Given the description of an element on the screen output the (x, y) to click on. 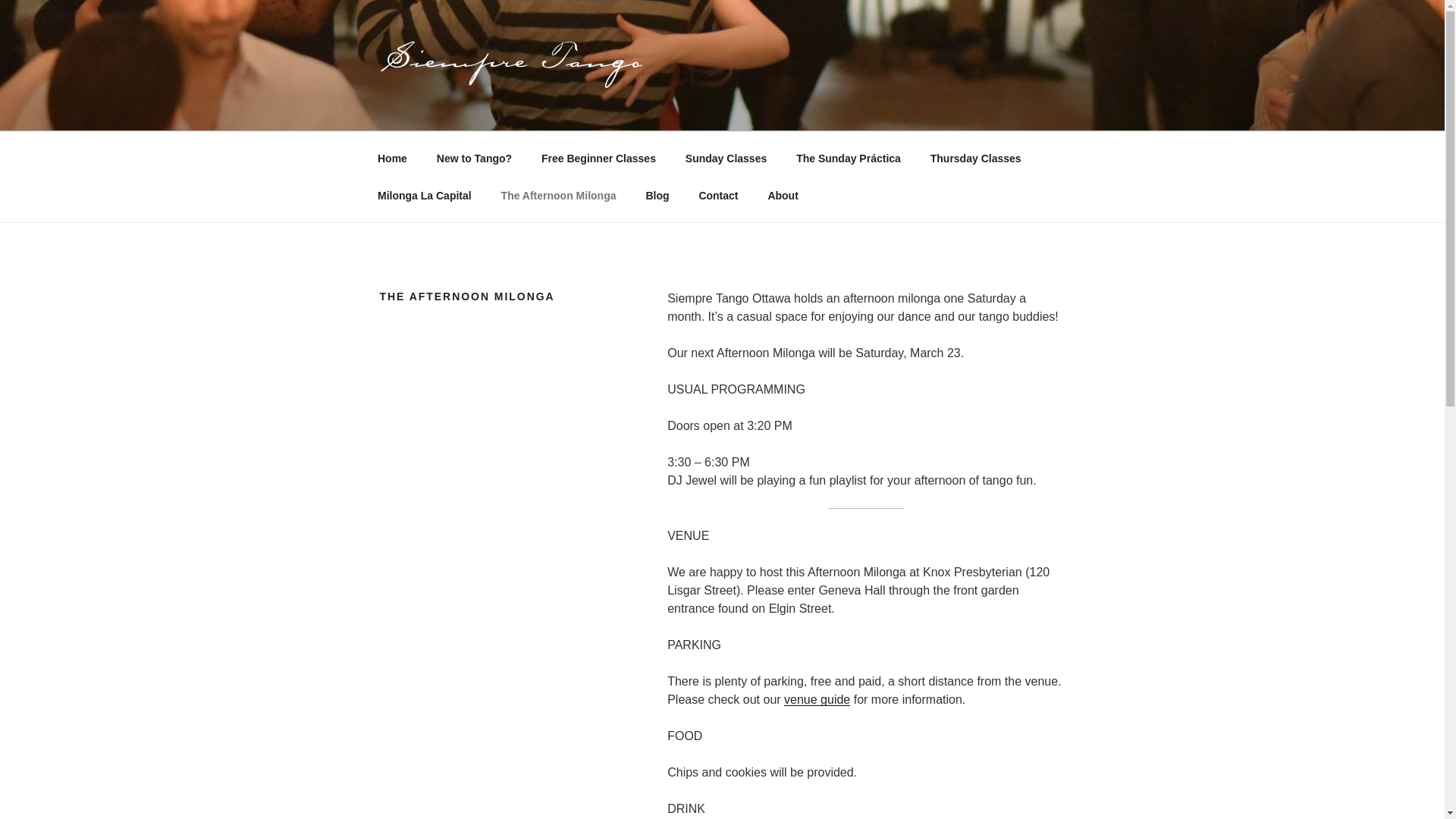
Home (392, 158)
New to Tango? (473, 158)
venue guide (817, 698)
SIEMPRE TANGO OTTAWA (574, 111)
Free Beginner Classes (597, 158)
The Afternoon Milonga (557, 195)
Blog (656, 195)
About (782, 195)
Sunday Classes (724, 158)
Contact (718, 195)
